Given the description of an element on the screen output the (x, y) to click on. 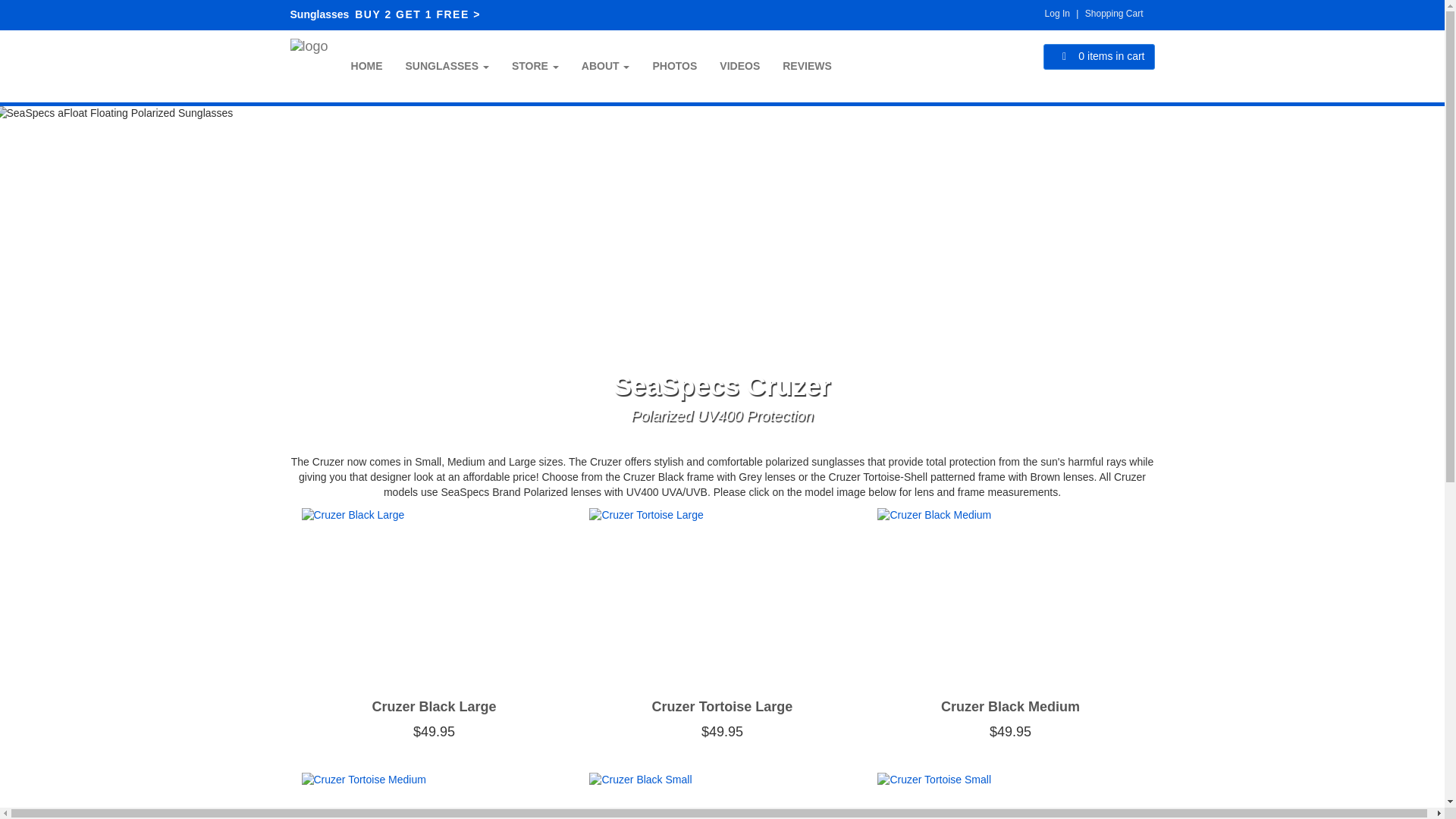
Floating Polarized Surf Sunglasses (366, 65)
go to homepage (309, 56)
Log In (1057, 13)
STORE (535, 65)
SUNGLASSES (447, 65)
Polarized Floating Sunglasses On Sale (384, 14)
Shopping Cart (1113, 13)
HOME (366, 65)
